Given the description of an element on the screen output the (x, y) to click on. 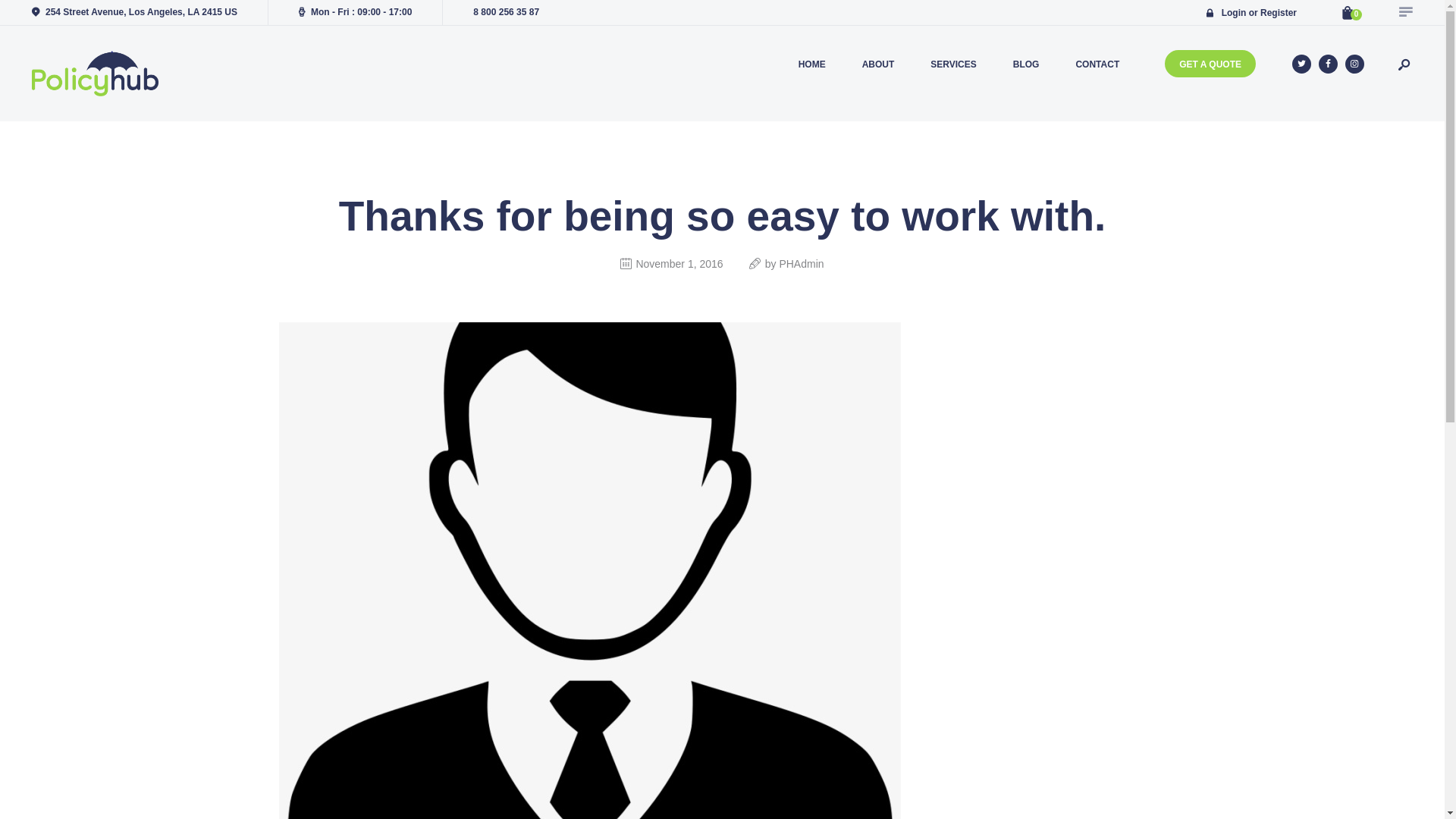
November 1, 2016 (678, 263)
GET A QUOTE (1209, 62)
CONTACT (1096, 64)
8 800 256 35 87 (505, 11)
Login or Register (1251, 11)
BLOG (1026, 64)
ABOUT (878, 64)
PHAdmin (801, 263)
HOME (811, 64)
SERVICES (953, 64)
